Given the description of an element on the screen output the (x, y) to click on. 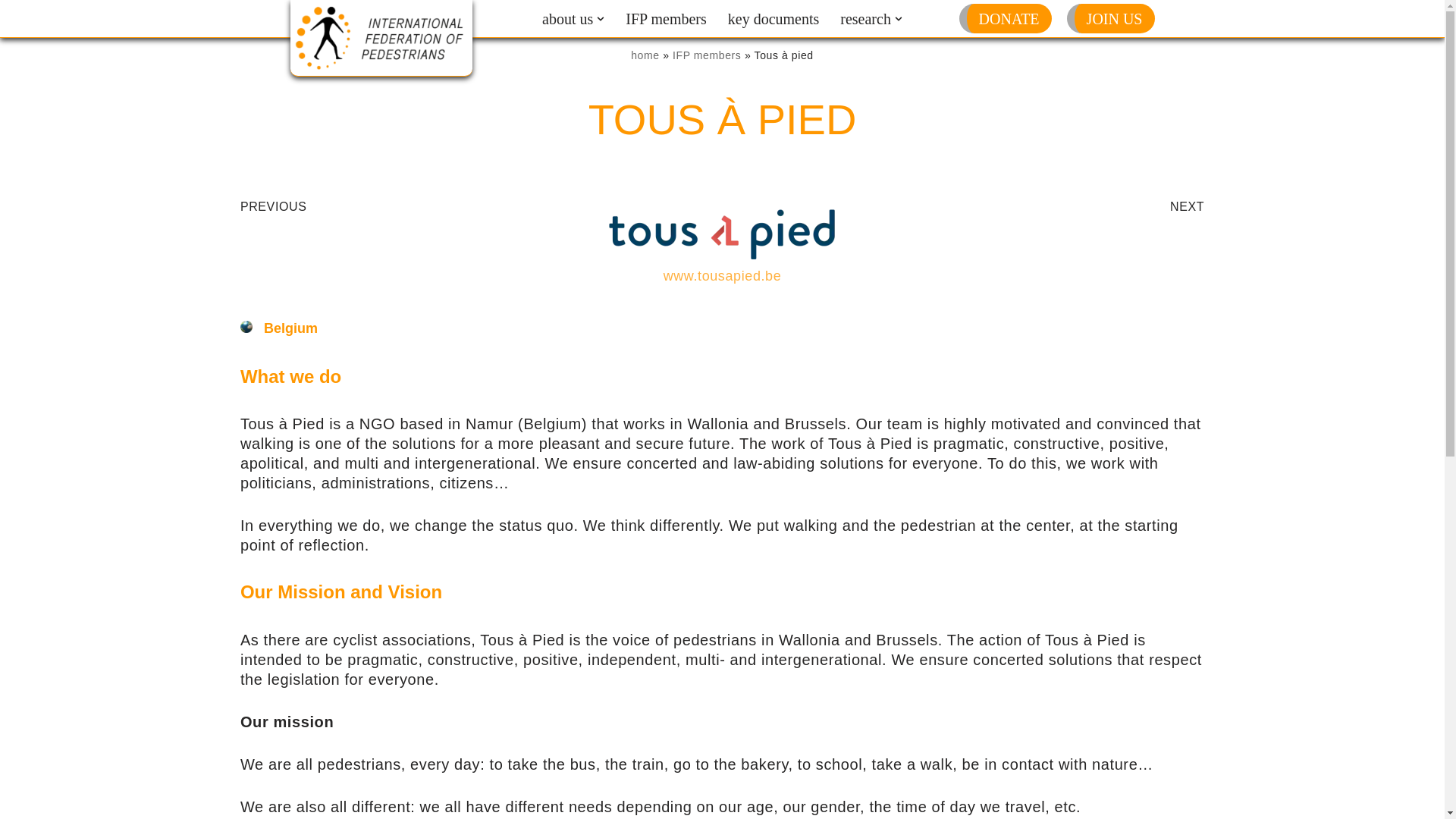
research (865, 18)
IFP members (666, 18)
DONATE (1008, 18)
about us (566, 18)
Skip to content (11, 31)
JOIN US (1114, 18)
key documents (773, 18)
